Given the description of an element on the screen output the (x, y) to click on. 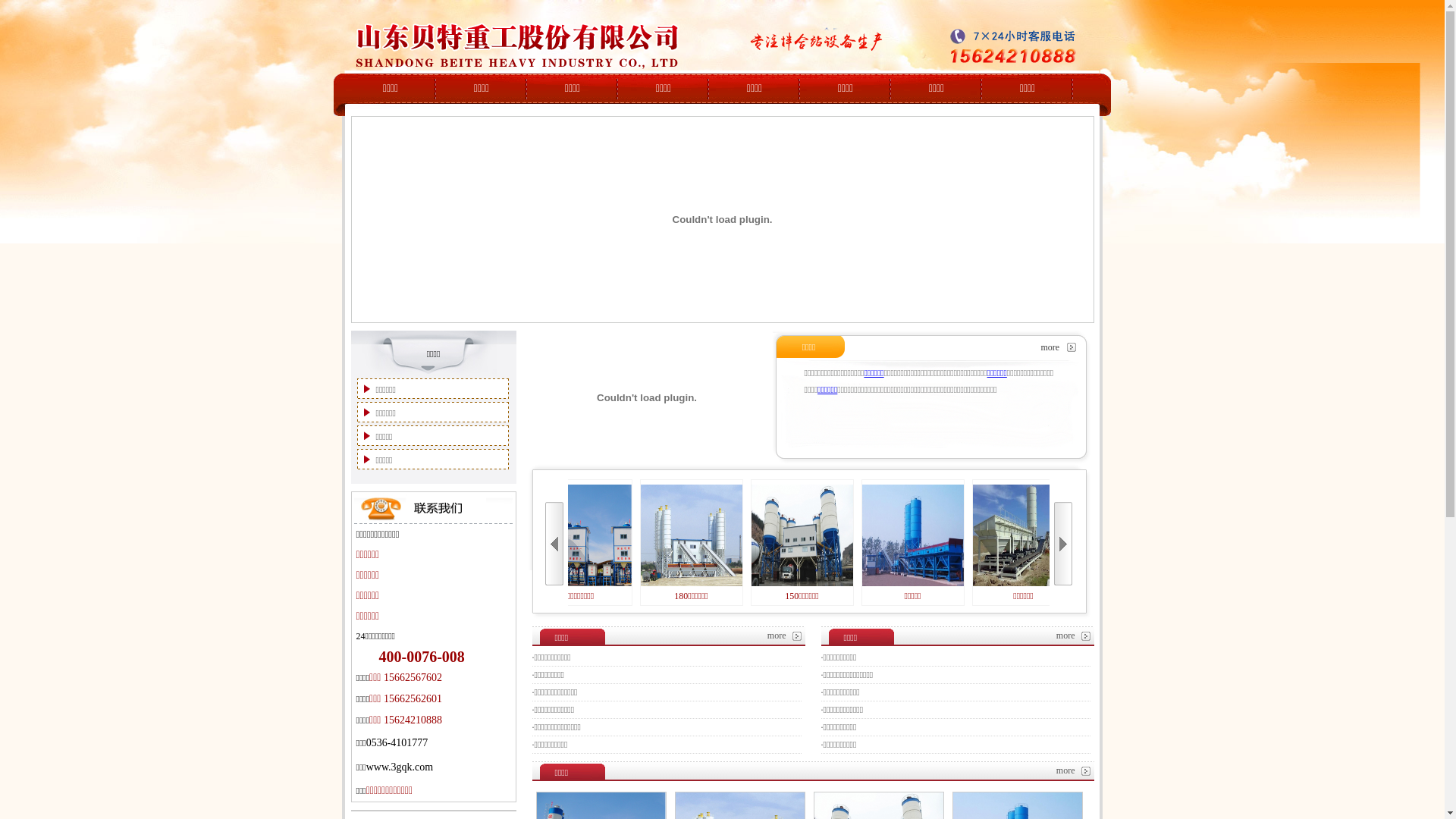
more Element type: text (1049, 347)
more Element type: text (1065, 635)
more Element type: text (776, 635)
more Element type: text (1065, 770)
